Given the description of an element on the screen output the (x, y) to click on. 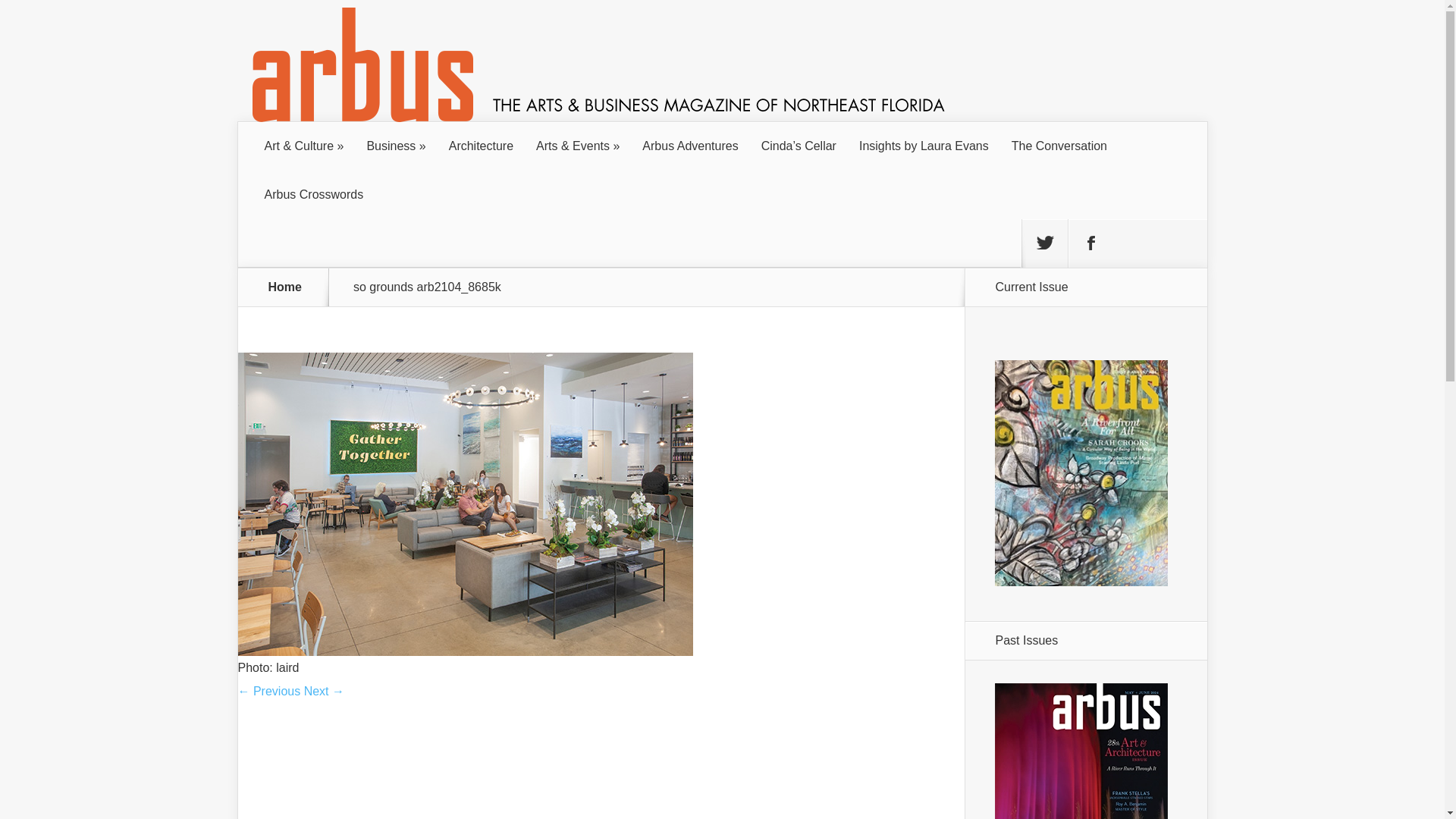
Arbus Crosswords (314, 194)
Architecture (481, 146)
Arbus Adventures (689, 146)
Follow us on Twitter (1044, 243)
Follow us on Facebook (1090, 243)
Insights by Laura Evans (923, 146)
Business (395, 146)
The Conversation (1059, 146)
